Given the description of an element on the screen output the (x, y) to click on. 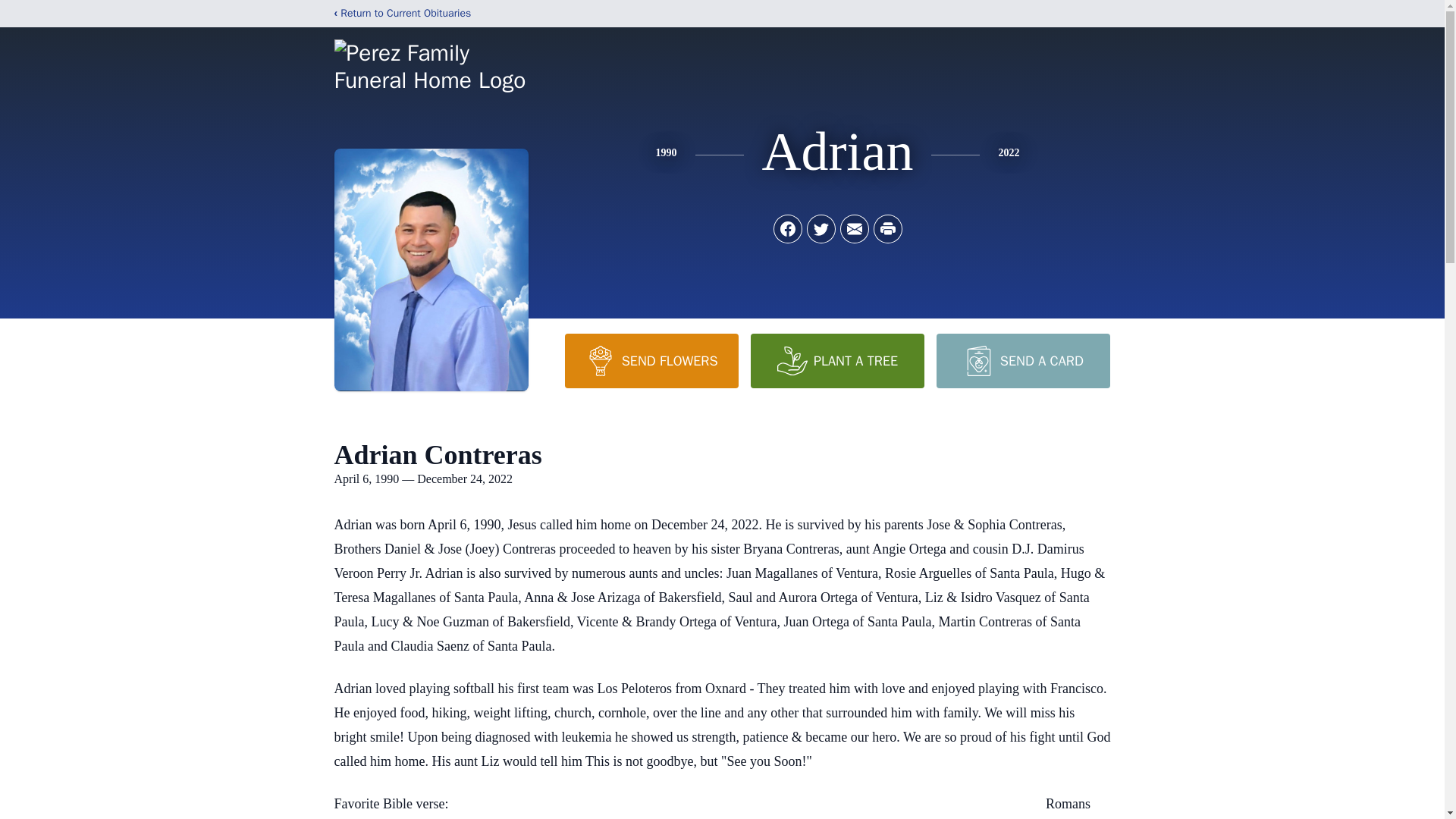
SEND FLOWERS (651, 360)
PLANT A TREE (837, 360)
SEND A CARD (1022, 360)
